Given the description of an element on the screen output the (x, y) to click on. 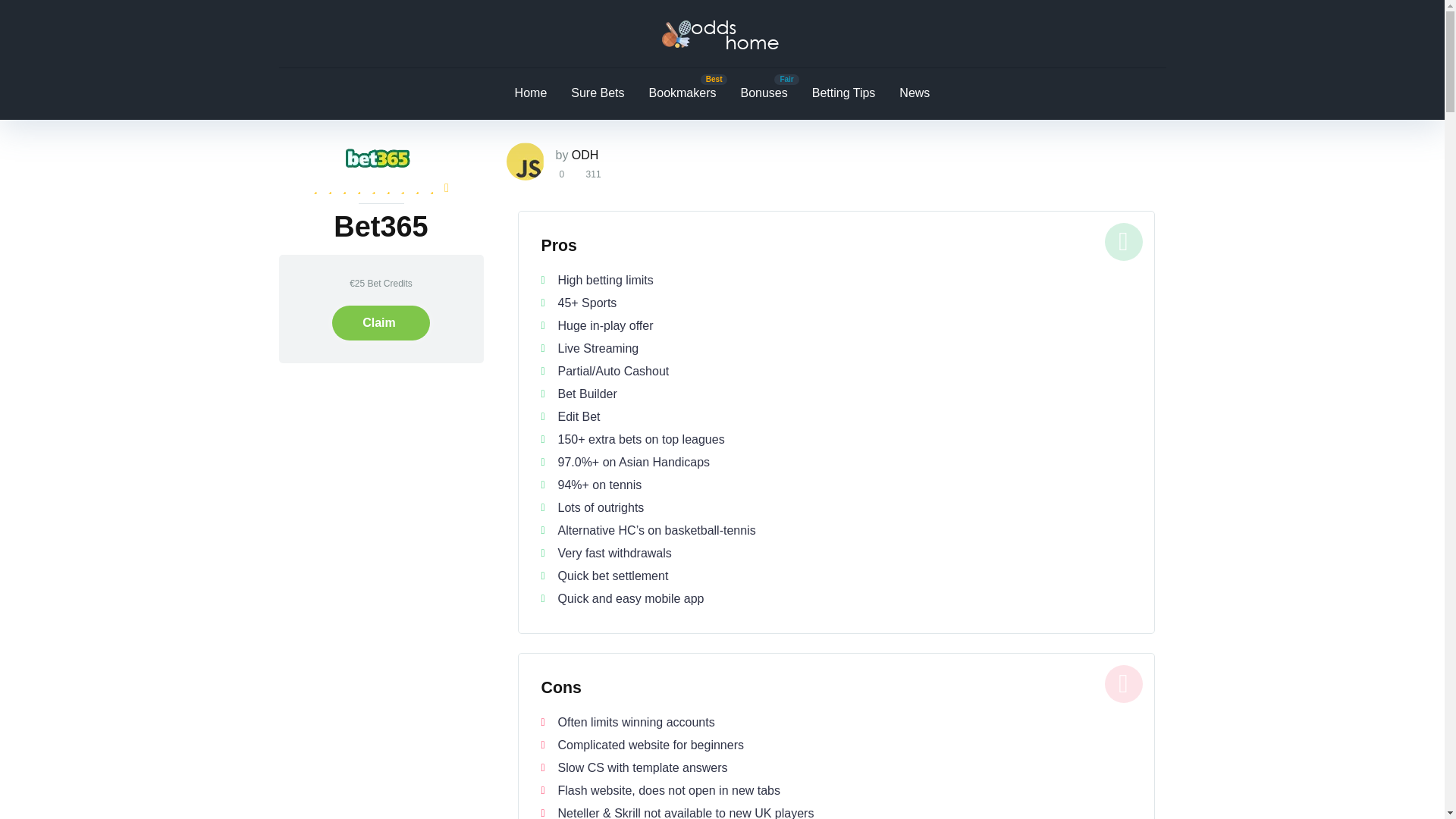
ODH (585, 154)
Posts by ODH (585, 154)
News (914, 93)
Home (530, 93)
Claim (380, 322)
Bonuses (763, 93)
Odds Home (722, 33)
Betting Tips (843, 93)
Claim (380, 322)
Sure Bets (597, 93)
Bookmakers (683, 93)
